Given the description of an element on the screen output the (x, y) to click on. 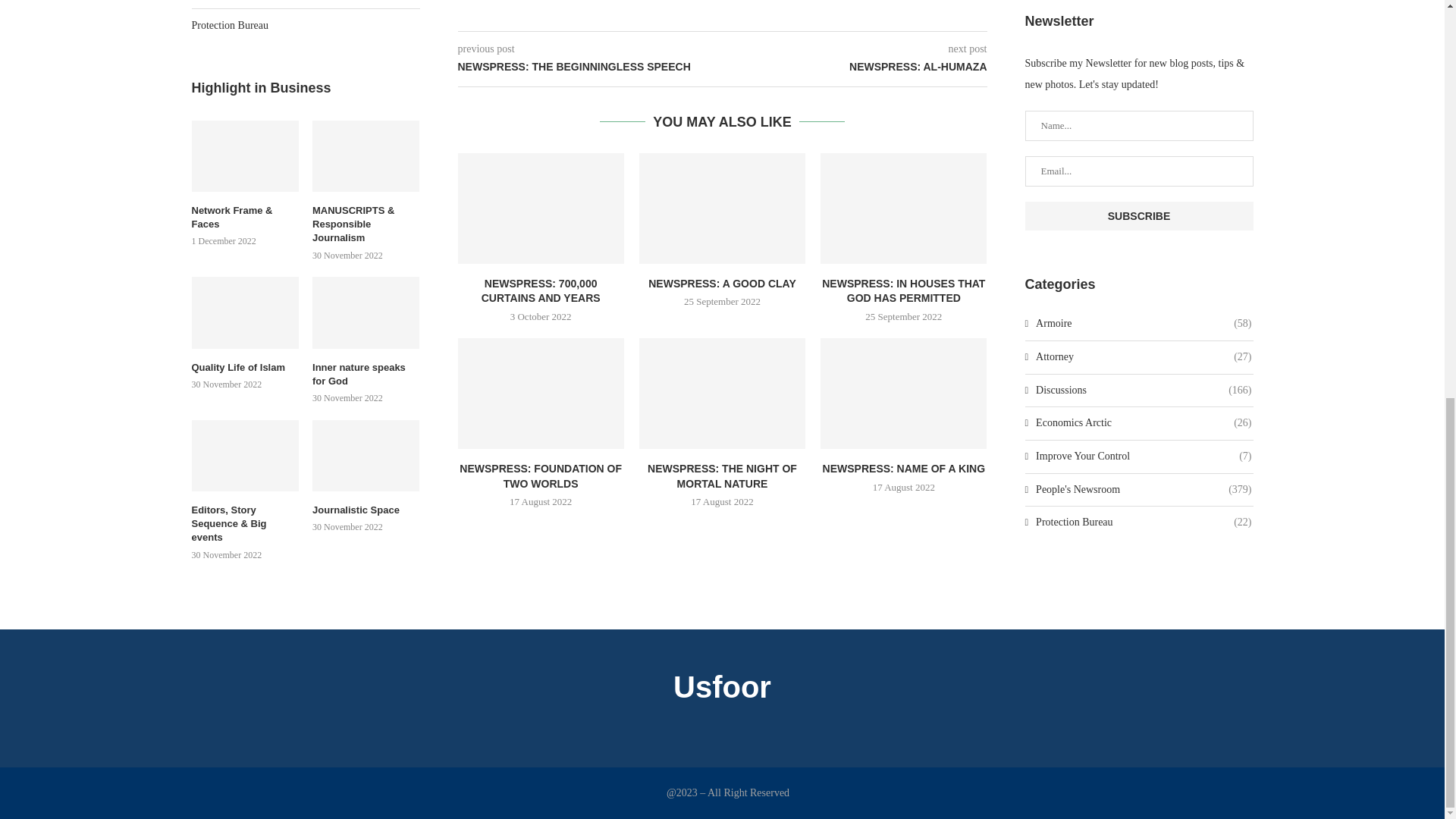
NEWSPRESS: AL-HUMAZA (854, 67)
NEWSPRESS: NAME OF A KING (904, 393)
NEWSPRESS: THE NIGHT OF MORTAL NATURE (722, 393)
NEWSPRESS: IN HOUSES THAT GOD HAS PERMITTED (904, 208)
NEWSPRESS: 700,000 CURTAINS AND YEARS (541, 208)
NEWSPRESS: FOUNDATION OF TWO WORLDS (541, 393)
NEWSPRESS: THE BEGINNINGLESS SPEECH (590, 67)
NEWSPRESS: A GOOD CLAY (722, 208)
Subscribe (1139, 215)
